Given the description of an element on the screen output the (x, y) to click on. 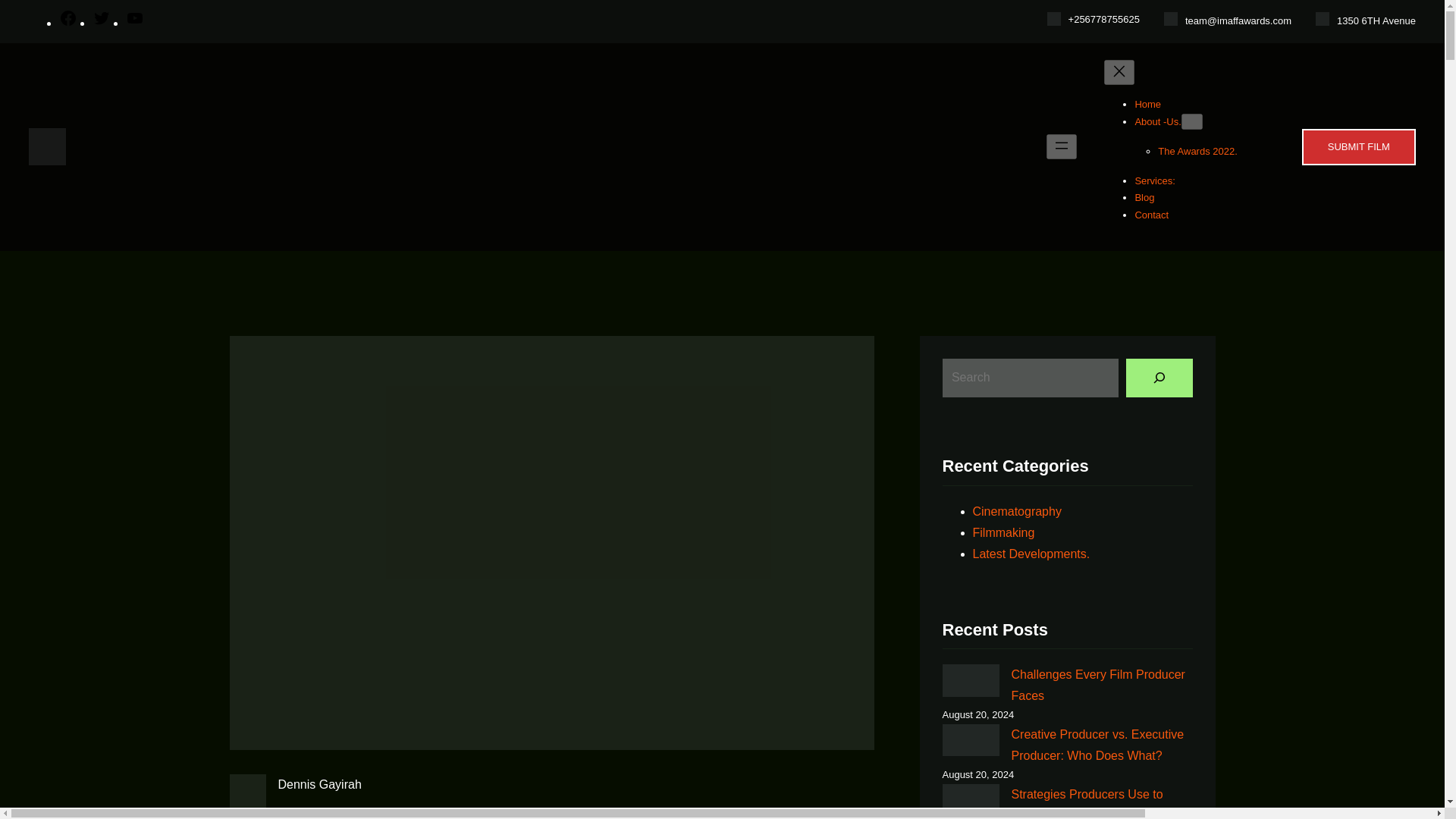
SUBMIT FILM (1358, 146)
Contact (1151, 214)
The Awards 2022. (1197, 151)
Services: (1154, 179)
Twitter (101, 22)
About -Us. (1157, 120)
YouTube (134, 22)
Facebook (68, 22)
Home (1147, 103)
